Given the description of an element on the screen output the (x, y) to click on. 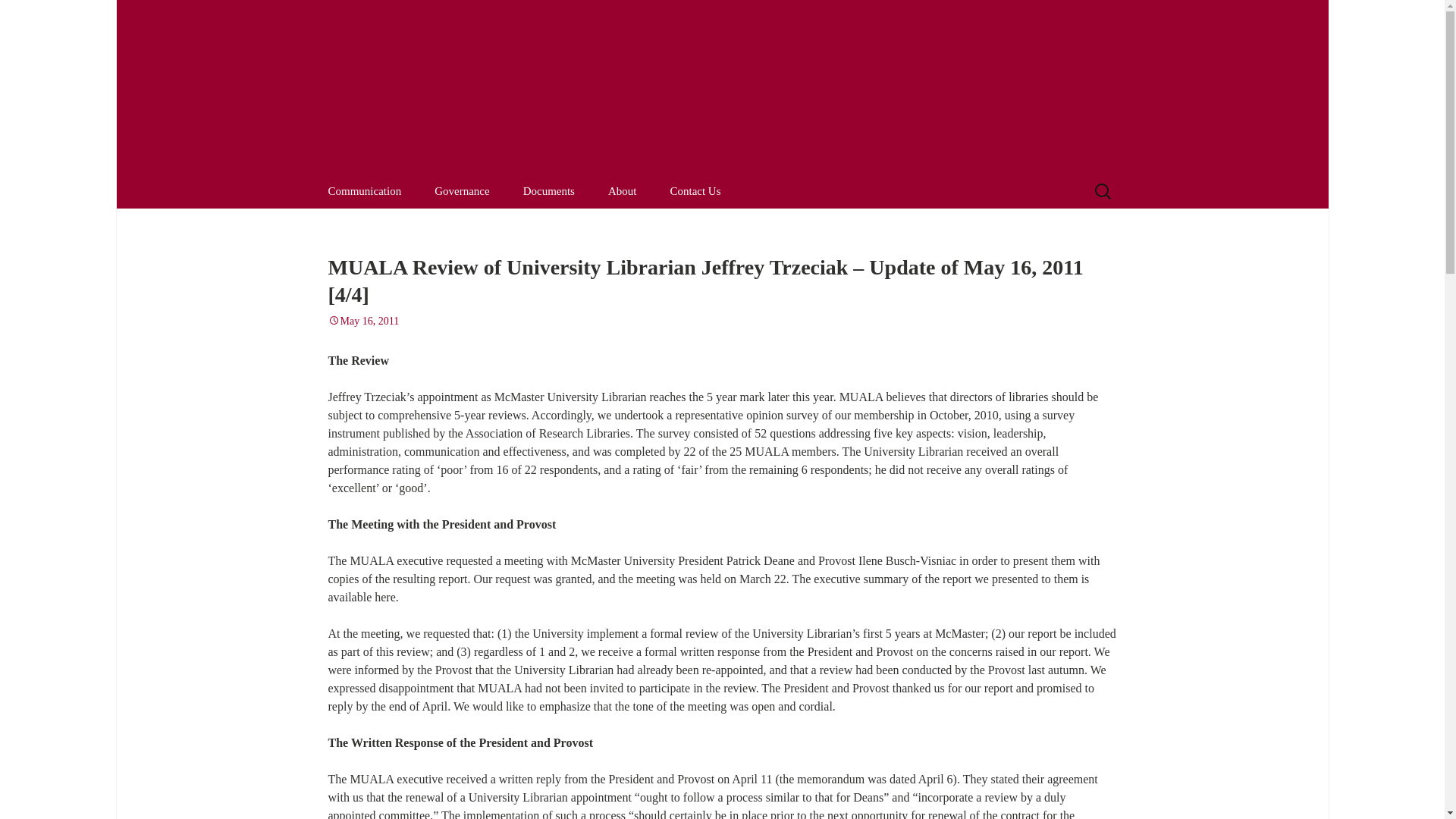
Search (18, 15)
May 16, 2011 (362, 320)
Search (694, 191)
Communication (32, 15)
Skip to content (364, 191)
About (548, 191)
Governance (622, 191)
MUALA (461, 191)
